Given the description of an element on the screen output the (x, y) to click on. 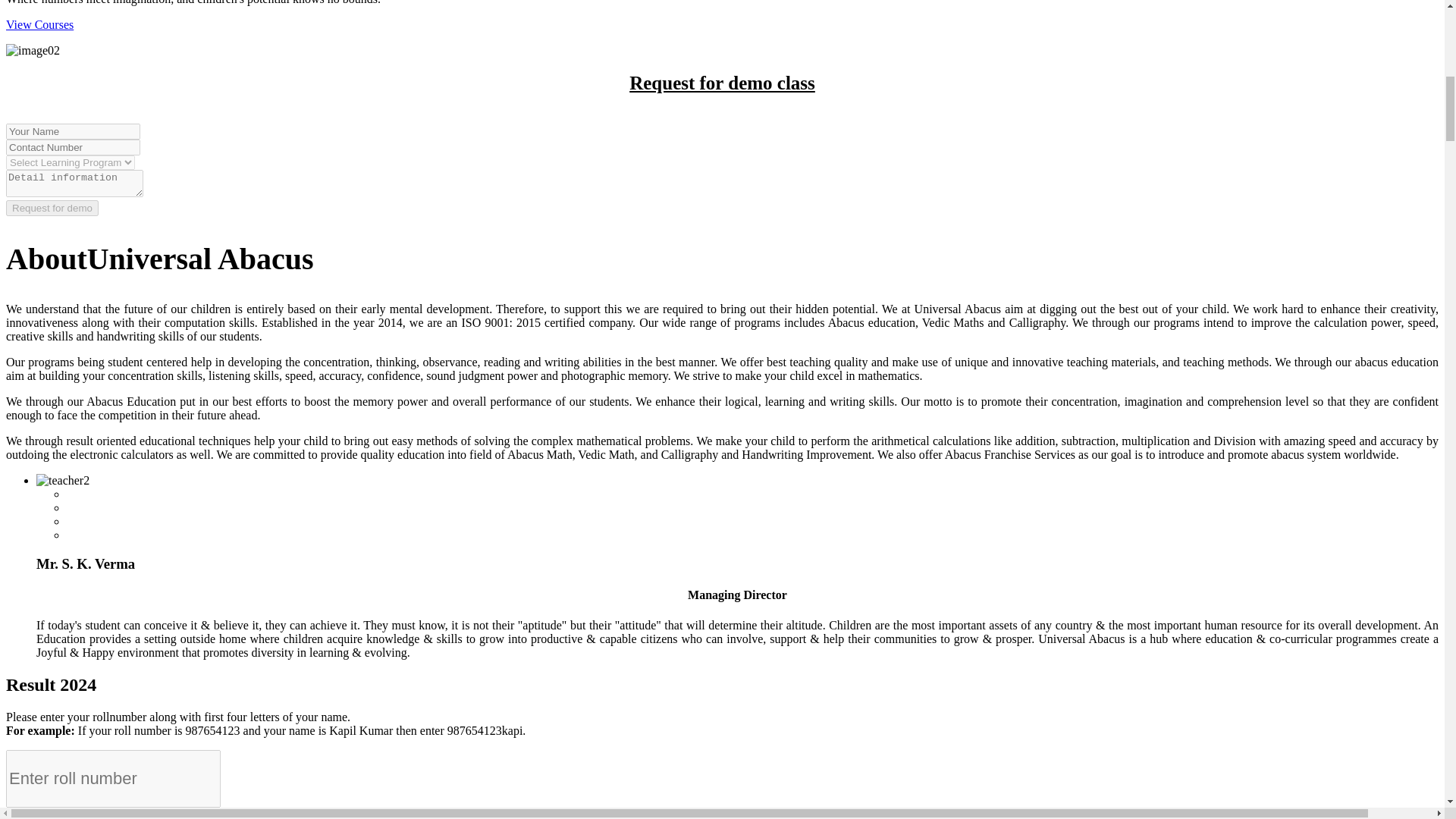
Request for demo (52, 207)
Submit (27, 813)
Request for demo (52, 207)
Submit (27, 813)
View Courses (39, 24)
